Given the description of an element on the screen output the (x, y) to click on. 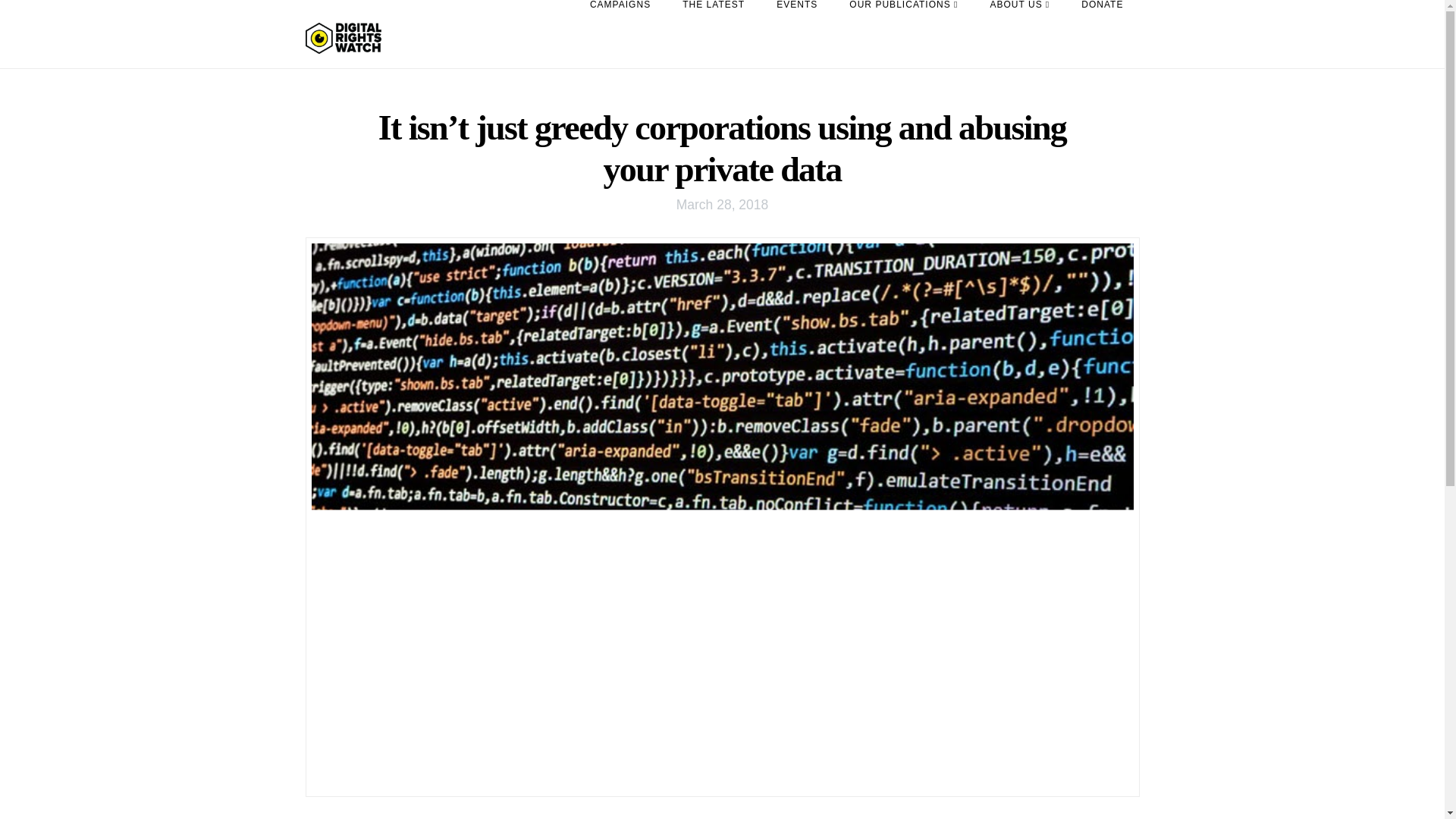
ABOUT US (1019, 33)
EVENTS (796, 33)
THE LATEST (713, 33)
CAMPAIGNS (619, 33)
DONATE (1101, 33)
OUR PUBLICATIONS (903, 33)
